Given the description of an element on the screen output the (x, y) to click on. 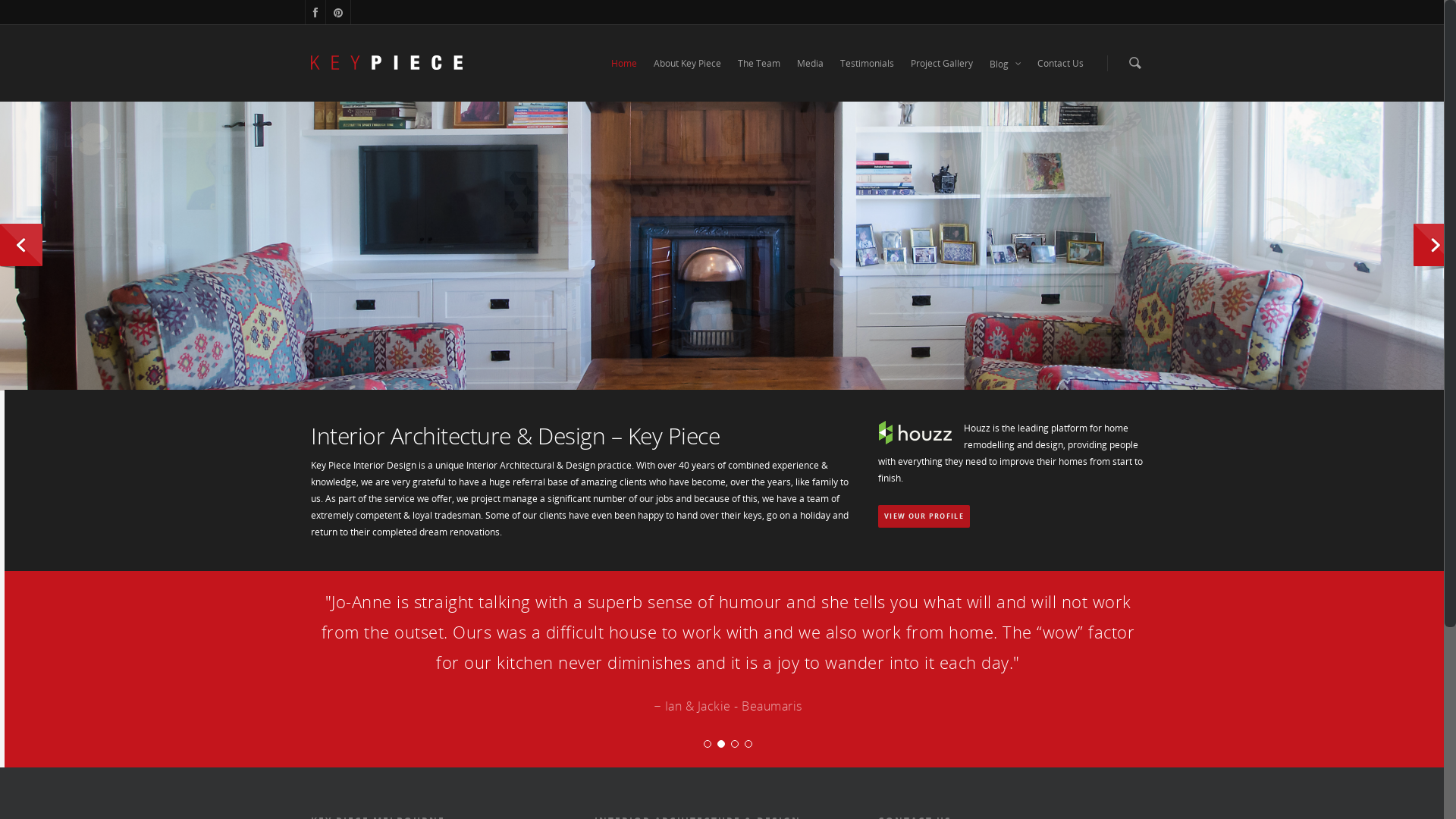
VIEW OUR PROFILE Element type: text (923, 516)
Media Element type: text (810, 77)
Contact Us Element type: text (1060, 77)
Home Element type: text (623, 77)
The Team Element type: text (758, 77)
Testimonials Element type: text (866, 77)
Blog Element type: text (1005, 78)
Project Gallery Element type: text (941, 77)
About Key Piece Element type: text (687, 77)
